Given the description of an element on the screen output the (x, y) to click on. 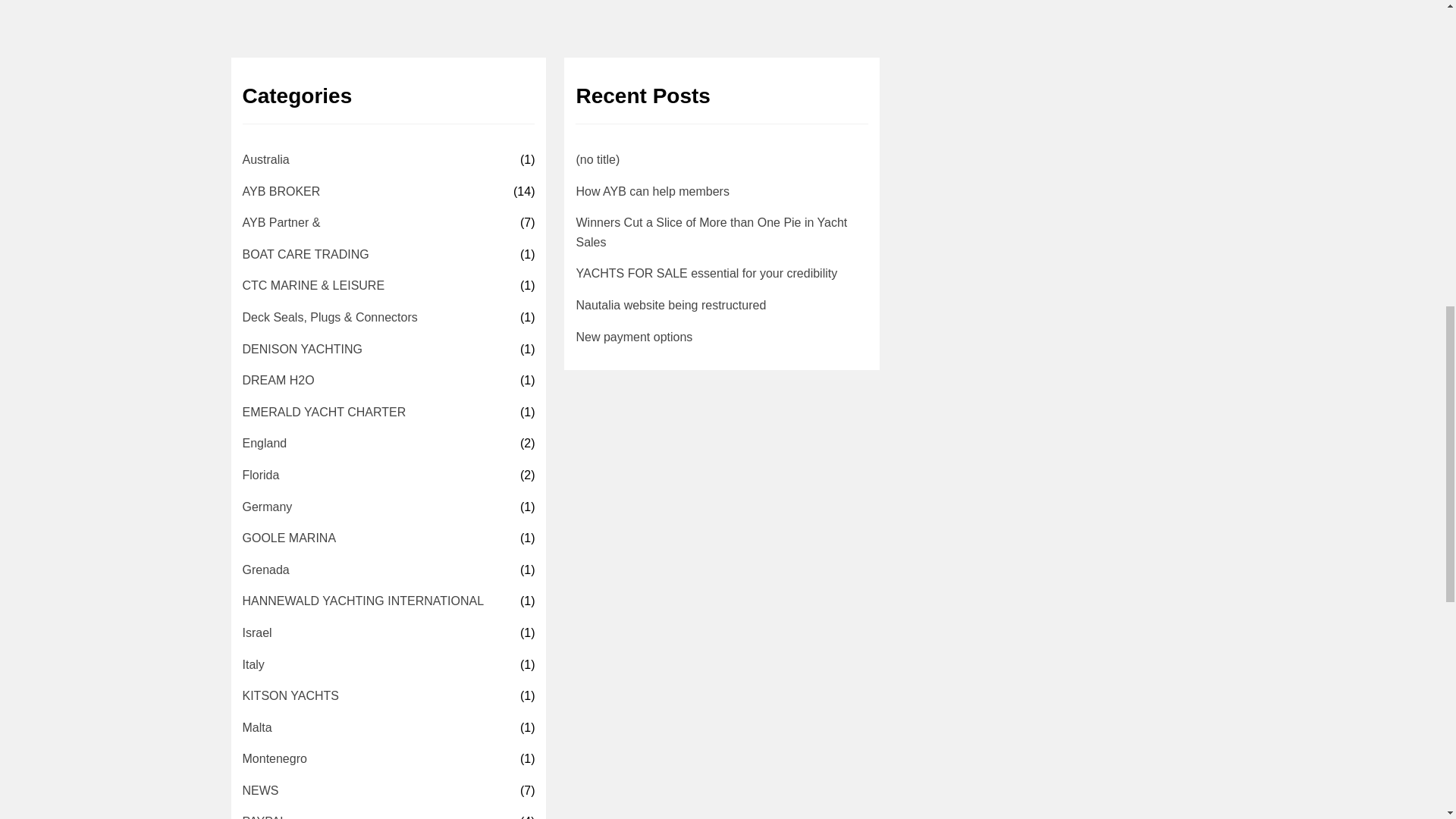
Germany (267, 506)
KITSON YACHTS (291, 695)
EMERALD YACHT CHARTER (324, 412)
Australia (266, 159)
England (264, 443)
DREAM H2O (278, 380)
HANNEWALD YACHTING INTERNATIONAL (363, 600)
Grenada (266, 569)
BOAT CARE TRADING (306, 254)
AYB BROKER (281, 191)
DENISON YACHTING (302, 349)
Florida (261, 475)
GOOLE MARINA (289, 537)
Israel (257, 632)
Italy (253, 664)
